Given the description of an element on the screen output the (x, y) to click on. 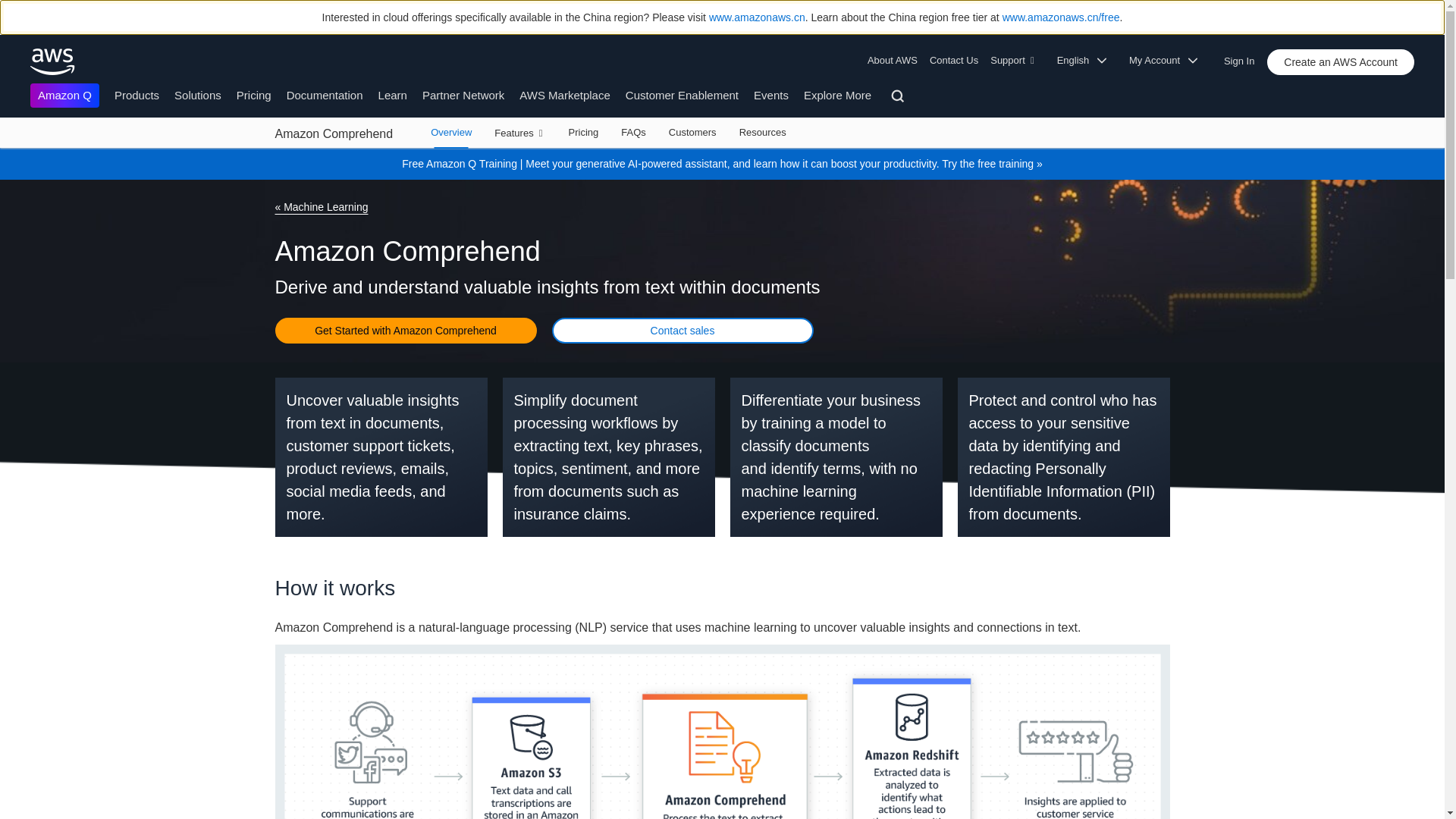
Products (136, 94)
Sign In (1243, 58)
Click here to return to Amazon Web Services homepage (52, 61)
Customer Enablement (682, 94)
Skip to main content (7, 154)
English   (1086, 60)
www.amazonaws.cn (757, 17)
Amazon Q (64, 95)
Partner Network (462, 94)
Support  (1016, 60)
